Given the description of an element on the screen output the (x, y) to click on. 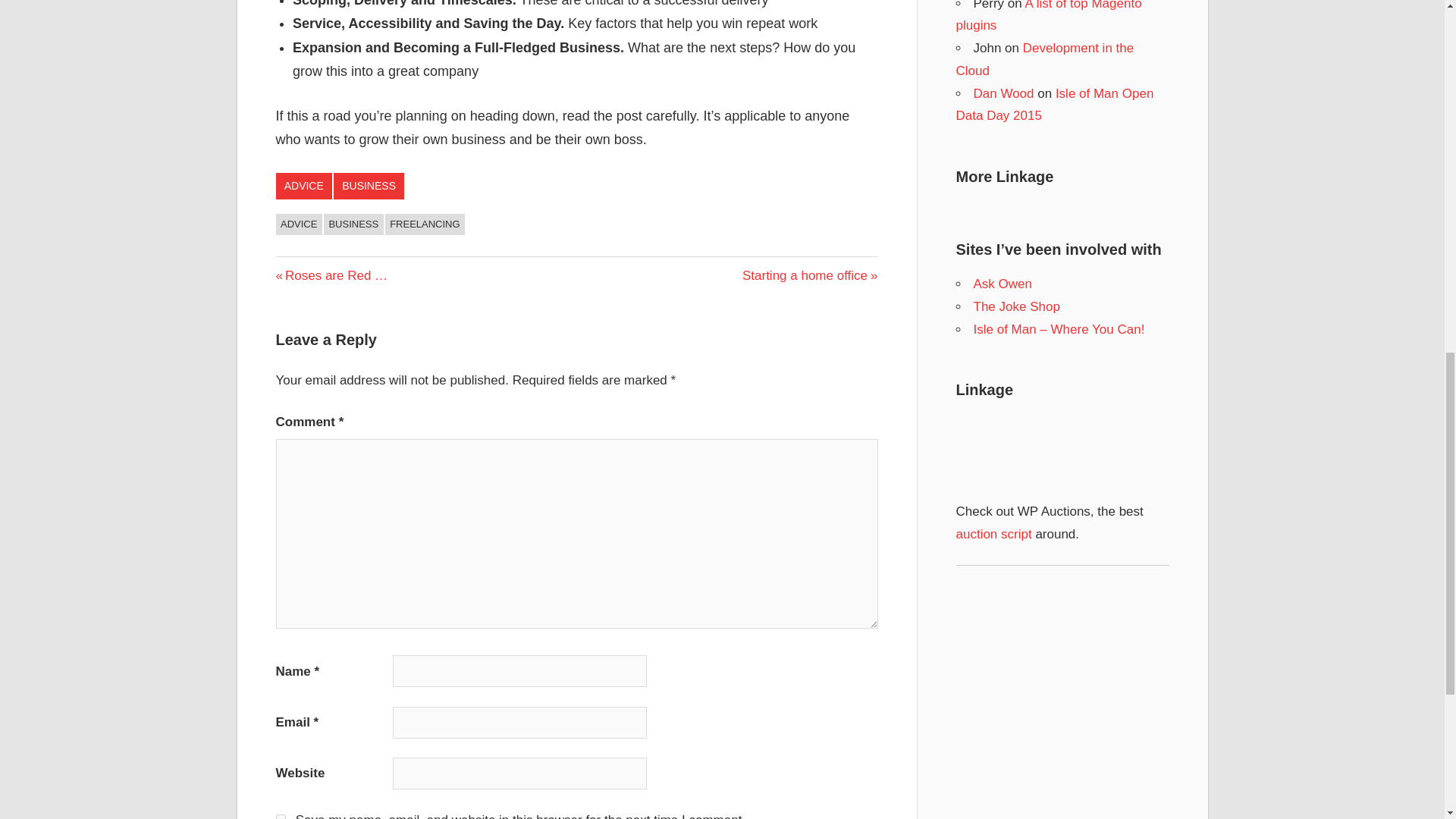
Dan Wood (1003, 93)
The Joke Shop (1016, 306)
ADVICE (809, 275)
A list of top Magento plugins (298, 224)
BUSINESS (1048, 16)
ADVICE (368, 185)
Isle of Man Open Data Day 2015 (304, 185)
BUSINESS (1054, 104)
Development in the Cloud (353, 224)
yes (1044, 58)
Ask Owen (280, 816)
auction script (1003, 283)
FREELANCING (992, 534)
